Given the description of an element on the screen output the (x, y) to click on. 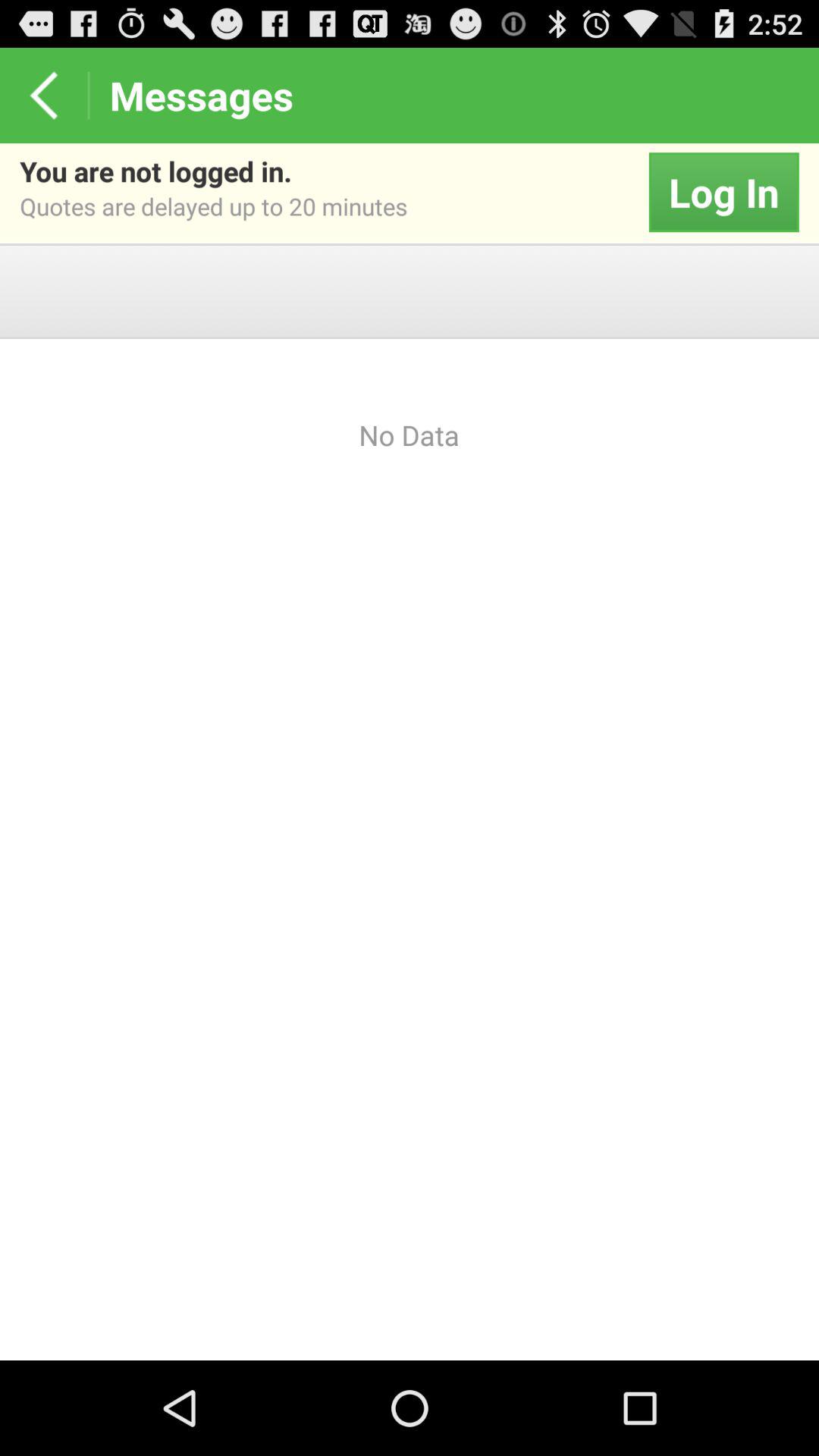
click the log in item (723, 193)
